Given the description of an element on the screen output the (x, y) to click on. 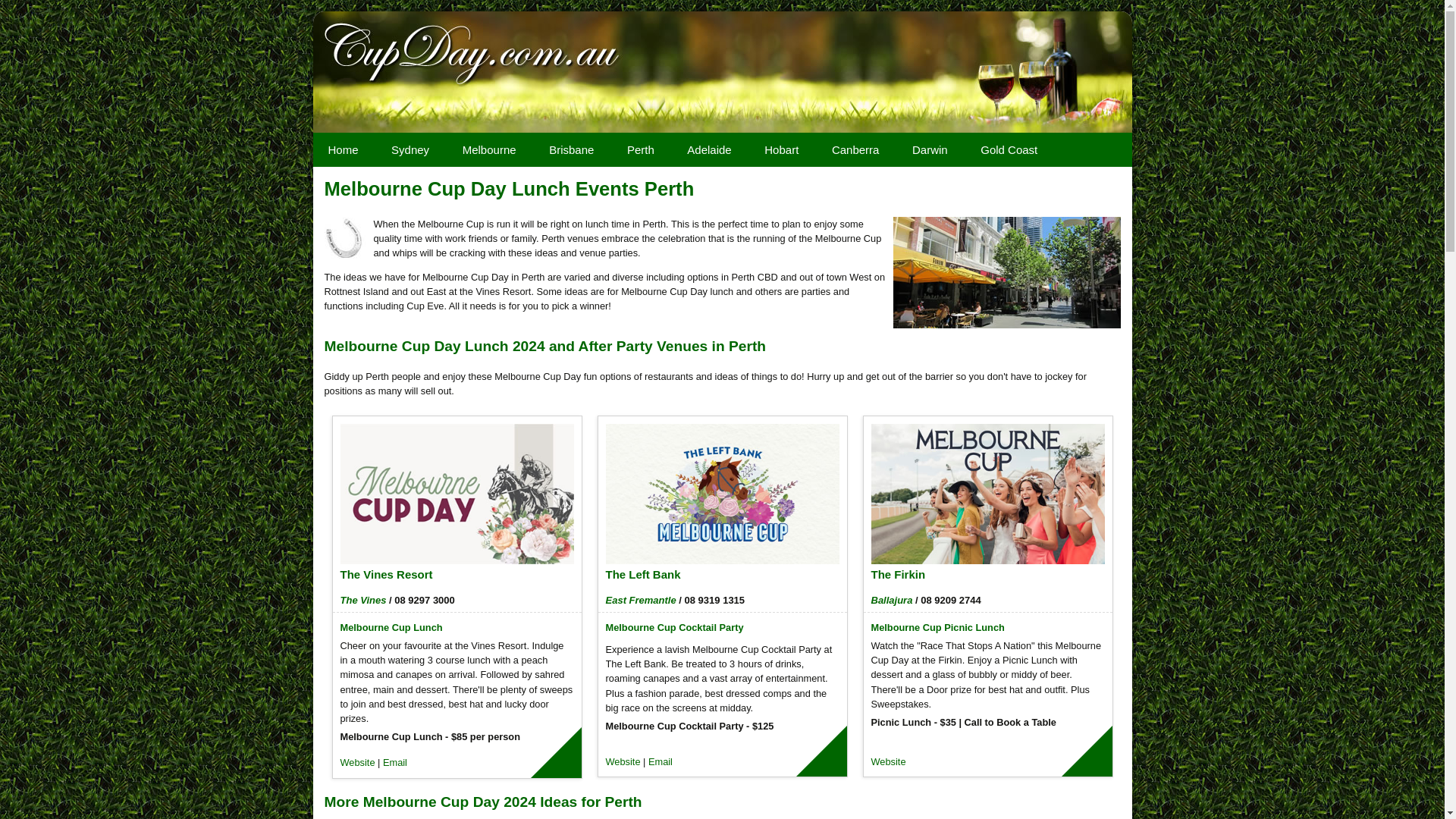
Canberra Element type: text (855, 149)
Email Element type: text (394, 762)
East Fremantle Element type: text (640, 599)
Website Element type: text (622, 761)
Brisbane Element type: text (570, 149)
Home Element type: text (342, 149)
Melbourne Element type: text (489, 149)
Hobart Element type: text (781, 149)
Ballajura Element type: text (891, 599)
Website Element type: text (356, 762)
The Vines Element type: text (362, 599)
Darwin Element type: text (930, 149)
Email Element type: text (660, 761)
Gold Coast Element type: text (1008, 149)
Sydney Element type: text (410, 149)
Skip to content Element type: text (546, 139)
Adelaide Element type: text (708, 149)
Perth Element type: text (640, 149)
Website Element type: text (887, 761)
